Given the description of an element on the screen output the (x, y) to click on. 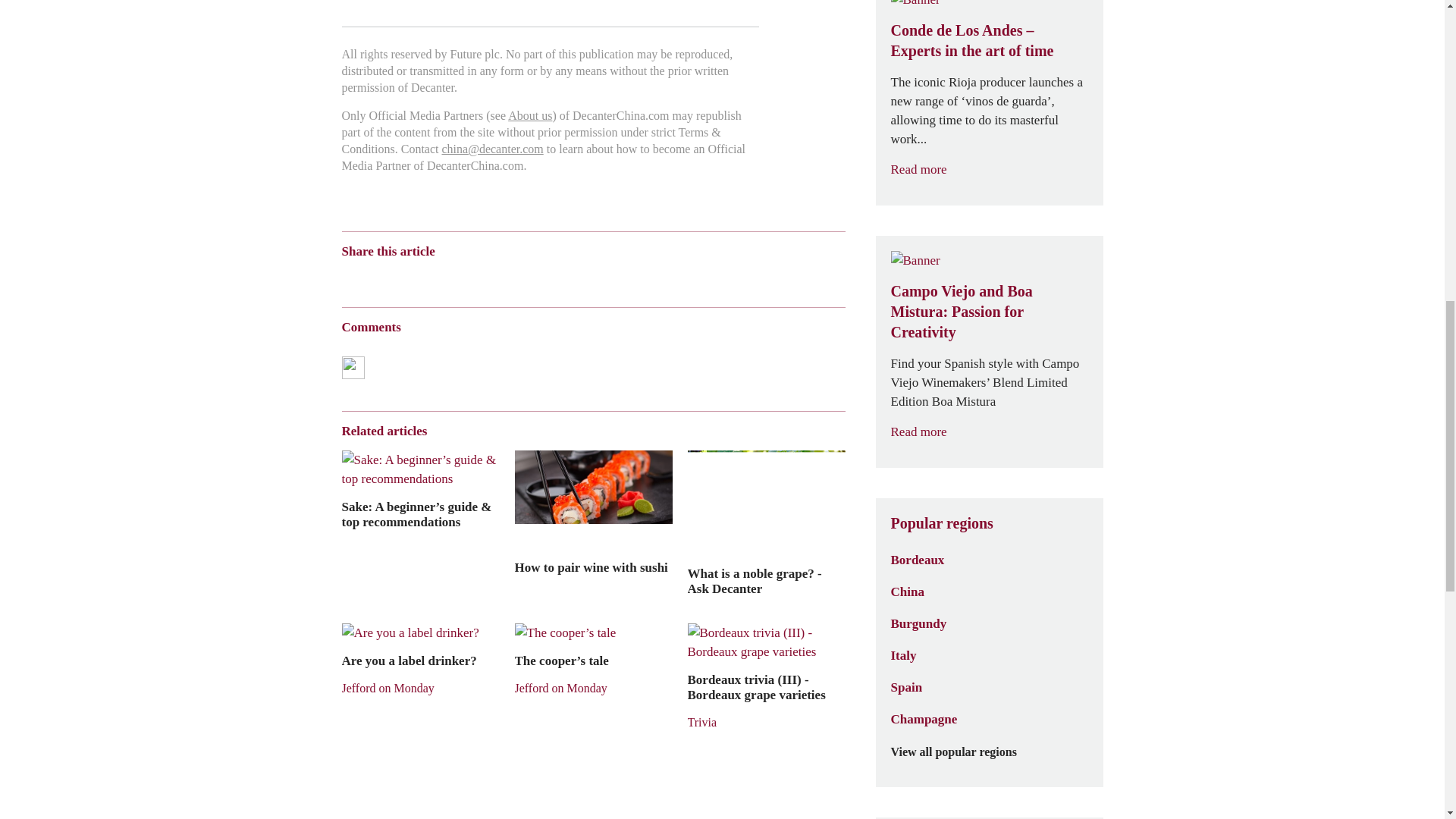
Tencent Weibo (407, 277)
About us (529, 115)
Weibo (347, 277)
WeChat (378, 277)
Renren (465, 277)
Renren (465, 277)
Tencent Weibo (407, 277)
Print (547, 277)
Facebook (521, 277)
QZone (437, 277)
Weibo (347, 277)
QZone (437, 277)
Wechat (378, 277)
Twitter (495, 277)
